Given the description of an element on the screen output the (x, y) to click on. 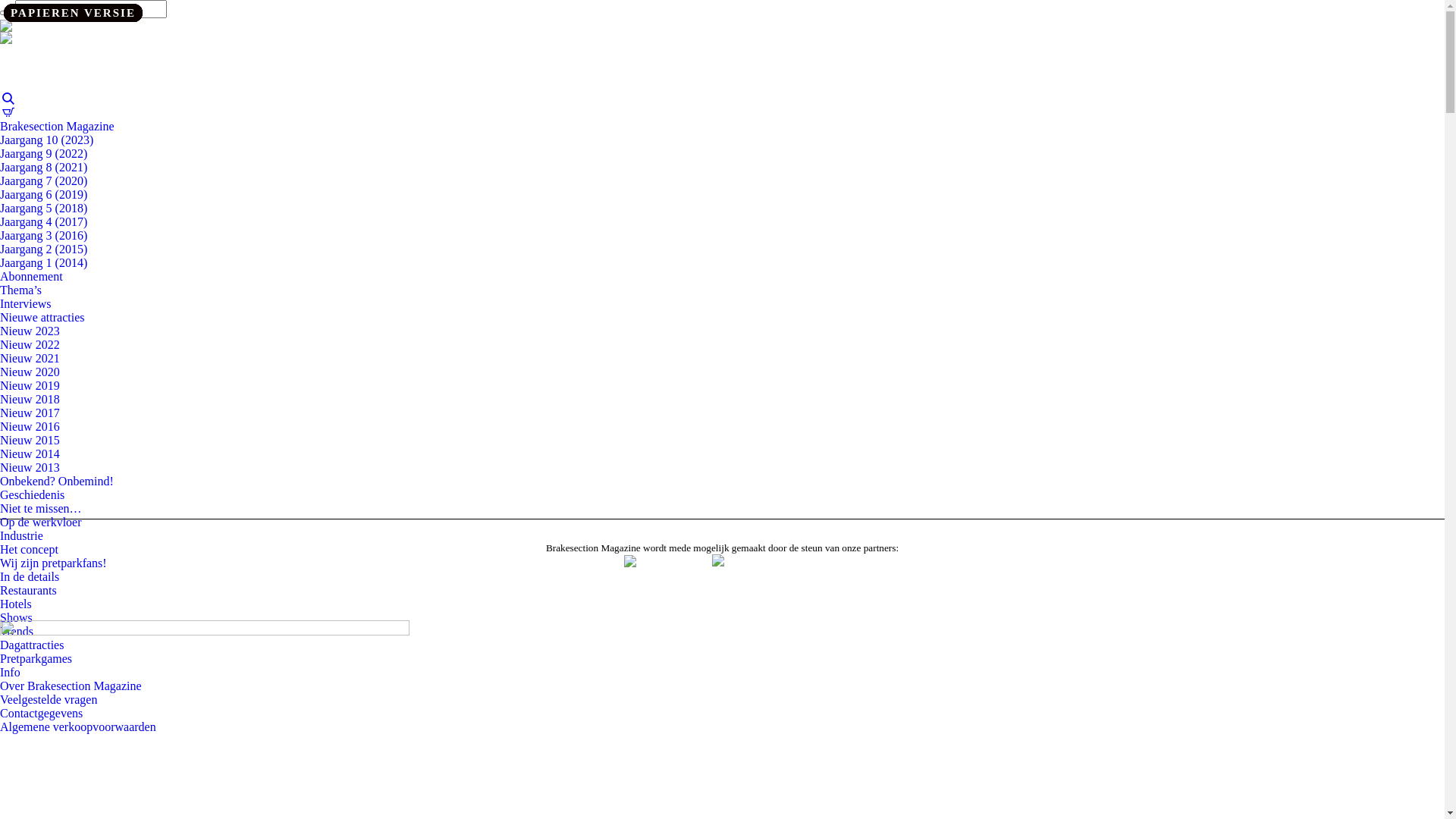
Nieuw 2022 Element type: text (29, 344)
Jaargang 3 (2016) Element type: text (43, 235)
Veelgestelde vragen Element type: text (48, 699)
Nieuw 2017 Element type: text (29, 412)
Nieuwe attracties Element type: text (42, 316)
Nieuw 2014 Element type: text (29, 453)
Vekoma Rides Manufacturing BV Element type: hover (655, 575)
Nieuw 2013 Element type: text (29, 467)
Trends Element type: text (16, 630)
Wij zijn pretparkfans! Element type: text (53, 562)
Jaargang 5 (2018) Element type: text (43, 207)
Jaargang 7 (2020) Element type: text (43, 180)
Dagattracties Element type: text (31, 644)
Nieuw 2021 Element type: text (29, 357)
Progimpex - Maatwerk Pluche Knuffels Element type: hover (766, 575)
Het concept Element type: text (29, 548)
Over Brakesection Magazine Element type: text (70, 685)
Jaargang 2 (2015) Element type: text (43, 248)
Restaurants Element type: text (28, 589)
Jaargang 10 (2023) Element type: text (46, 139)
Brakesection Magazine Element type: hover (76, 42)
Nieuw 2023 Element type: text (29, 330)
Nieuw 2020 Element type: text (29, 371)
Jaargang 1 (2014) Element type: text (43, 262)
Geschiedenis Element type: text (32, 494)
Nieuw 2018 Element type: text (29, 398)
Industrie Element type: text (21, 535)
Contactgegevens Element type: text (41, 712)
Onbekend? Onbemind! Element type: text (56, 480)
In de details Element type: text (29, 576)
Jaargang 4 (2017) Element type: text (43, 221)
Op de werkvloer Element type: text (40, 521)
Nieuw 2015 Element type: text (29, 439)
Interviews Element type: text (25, 303)
Nieuw 2016 Element type: text (29, 426)
Jaargang 9 (2022) Element type: text (43, 153)
Brakesection Magazine Element type: text (57, 125)
Pretparkgames Element type: text (36, 658)
Shows Element type: text (16, 617)
Abonnement Element type: text (31, 275)
Algemene verkoopvoorwaarden Element type: text (78, 726)
Hotels Element type: text (15, 603)
Nieuw 2019 Element type: text (29, 385)
Jaargang 6 (2019) Element type: text (43, 194)
Jaargang 8 (2021) Element type: text (43, 166)
Info Element type: text (10, 671)
